Given the description of an element on the screen output the (x, y) to click on. 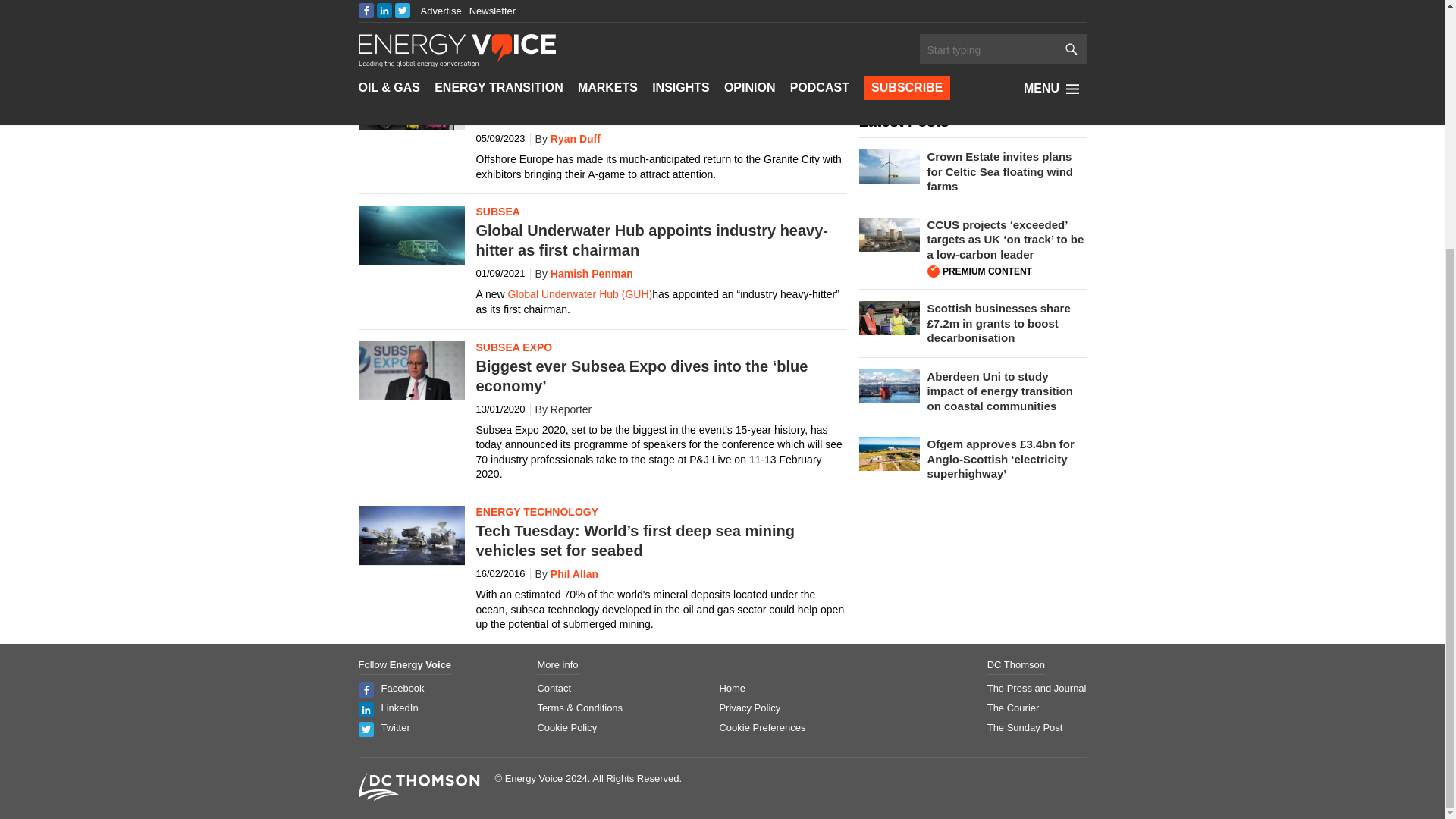
Phil Allan (563, 573)
Gallery: Offshore Europe 2023 has caught the Love Bug (405, 102)
Ryan Duff (564, 138)
Hamish Penman (581, 273)
